Given the description of an element on the screen output the (x, y) to click on. 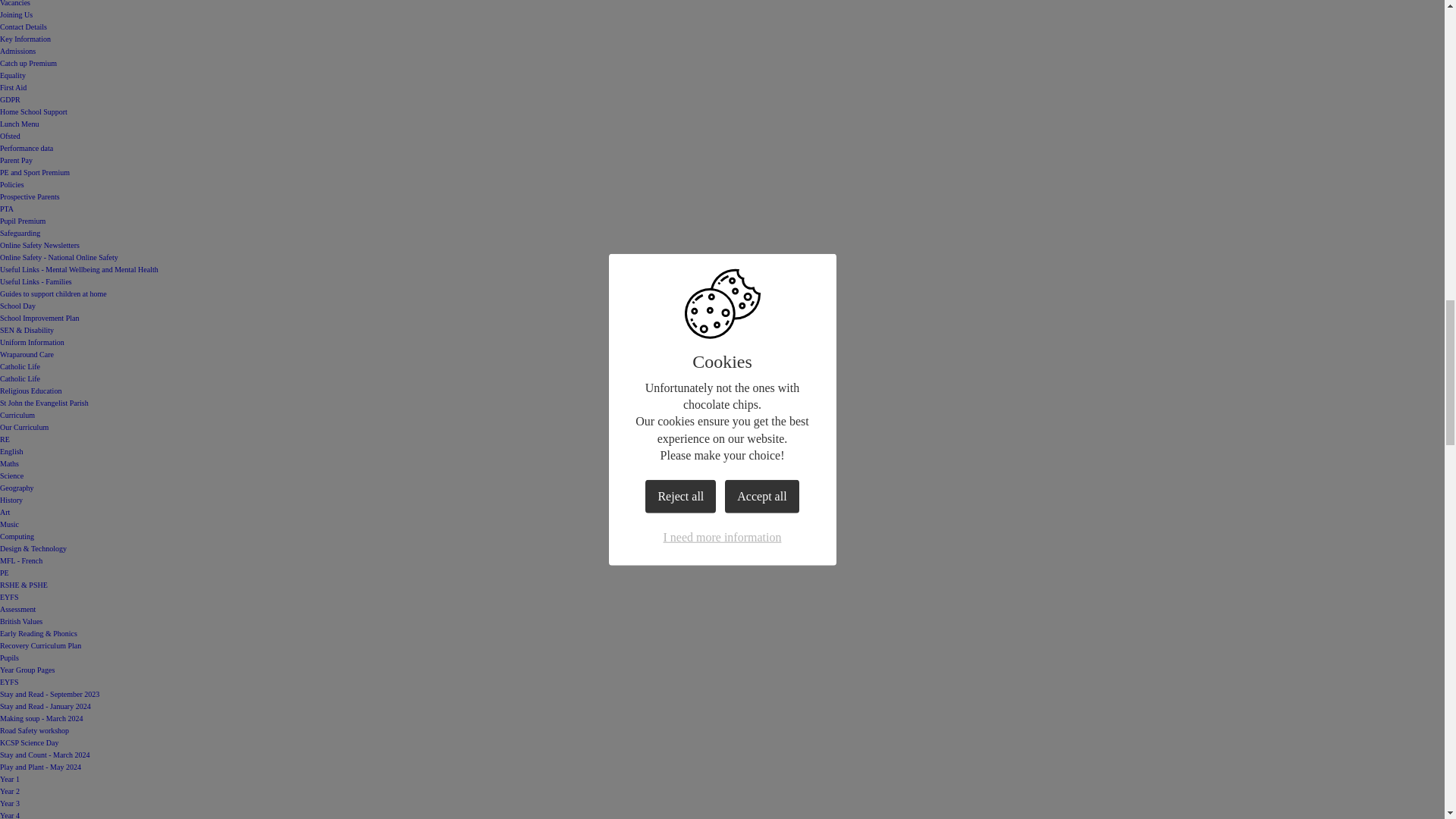
Joining Us (16, 14)
Contact Details (23, 26)
Catch up Premium (28, 62)
Vacancies (15, 3)
Lunch Menu (19, 123)
Key Information (25, 39)
Admissions (17, 50)
First Aid (13, 87)
Equality (13, 75)
Home School Support (33, 111)
GDPR (10, 99)
